Given the description of an element on the screen output the (x, y) to click on. 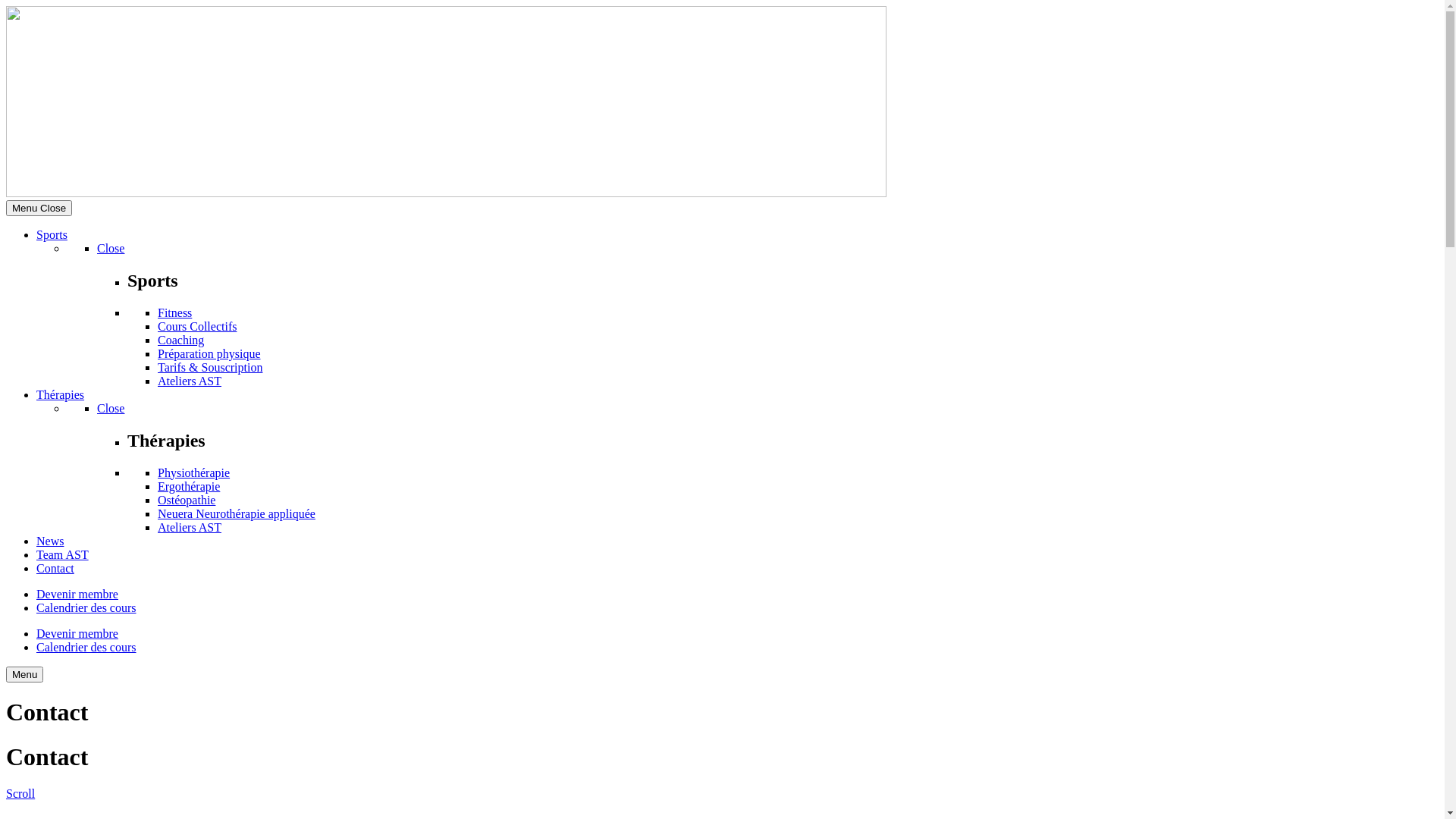
Close Element type: text (110, 407)
Tarifs & Souscription Element type: text (209, 366)
Cours Collectifs Element type: text (196, 326)
Scroll Element type: text (20, 793)
Sports Element type: text (51, 234)
News Element type: text (49, 540)
Devenir membre Element type: text (77, 633)
Ateliers AST Element type: text (189, 526)
Menu Element type: text (24, 674)
Ateliers AST Element type: text (189, 380)
Calendrier des cours Element type: text (86, 607)
Devenir membre Element type: text (77, 593)
Team AST Element type: text (62, 554)
Coaching Element type: text (180, 339)
Fitness Element type: text (174, 312)
Contact Element type: text (55, 567)
Calendrier des cours Element type: text (86, 646)
Close Element type: text (110, 247)
Menu Close Element type: text (39, 208)
